Given the description of an element on the screen output the (x, y) to click on. 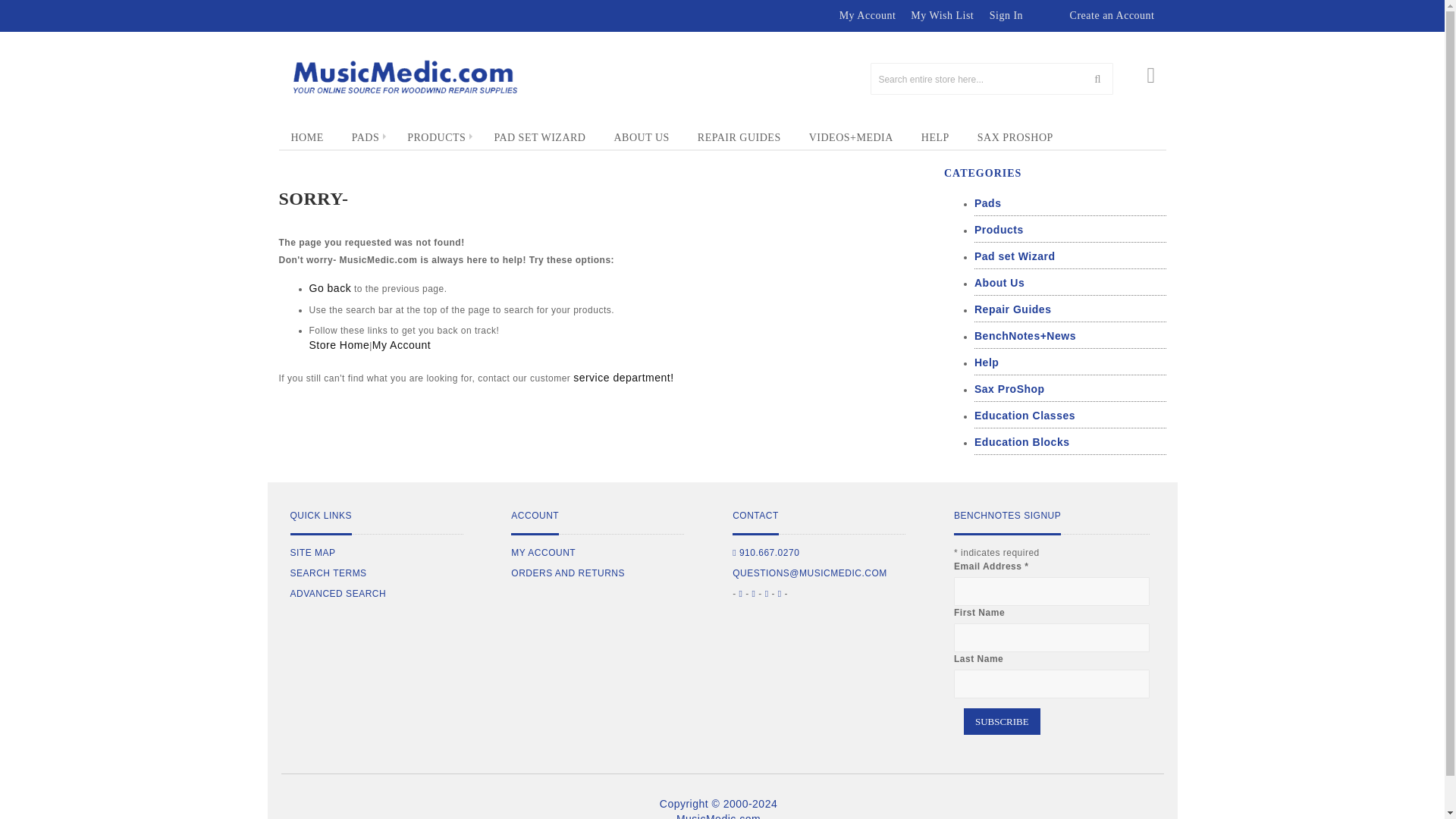
My Wish List (942, 15)
MusicMedic.com (402, 76)
Home (307, 137)
PADS (365, 137)
Create an Account (1112, 15)
HOME (307, 137)
Search (1097, 79)
My Account (868, 15)
Search (1097, 79)
PADS (365, 137)
Sign In (1006, 15)
